Given the description of an element on the screen output the (x, y) to click on. 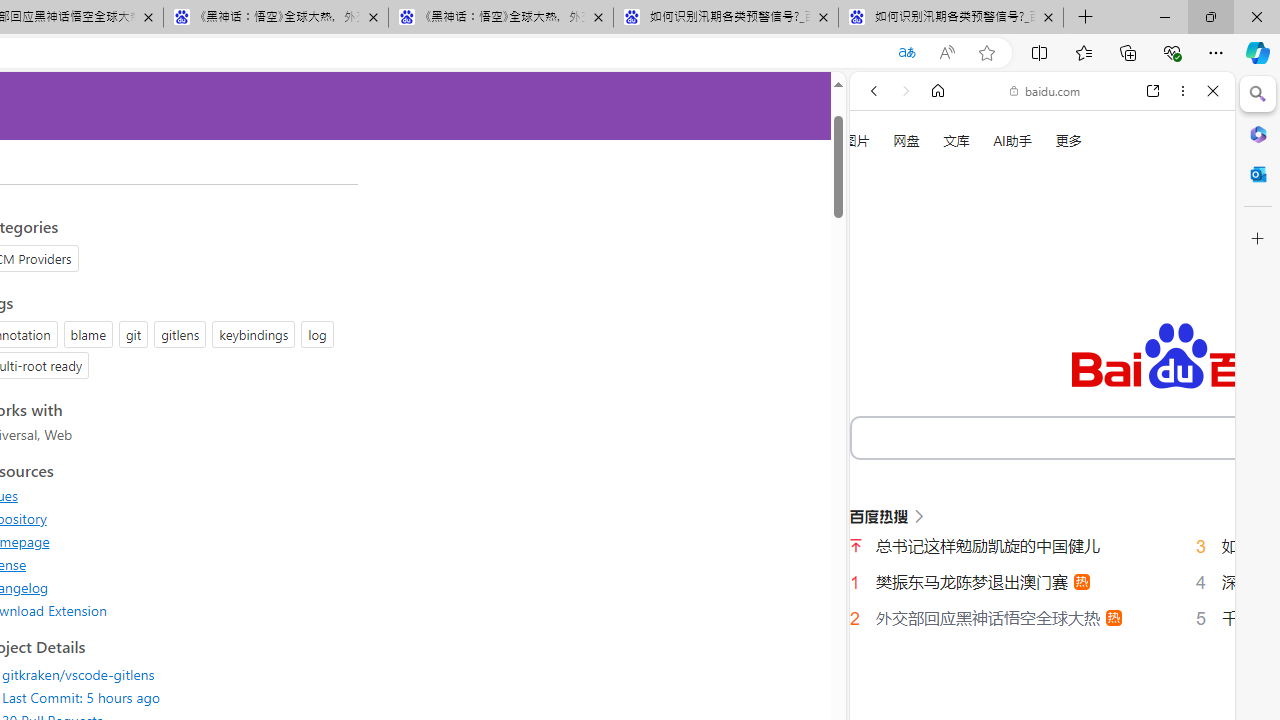
Preferences (1189, 337)
Search Filter, VIDEOS (1006, 339)
Learn more (943, 272)
Translated (906, 53)
Web scope (882, 180)
English (Uk) (1042, 622)
English (Uk) (1042, 628)
